Given the description of an element on the screen output the (x, y) to click on. 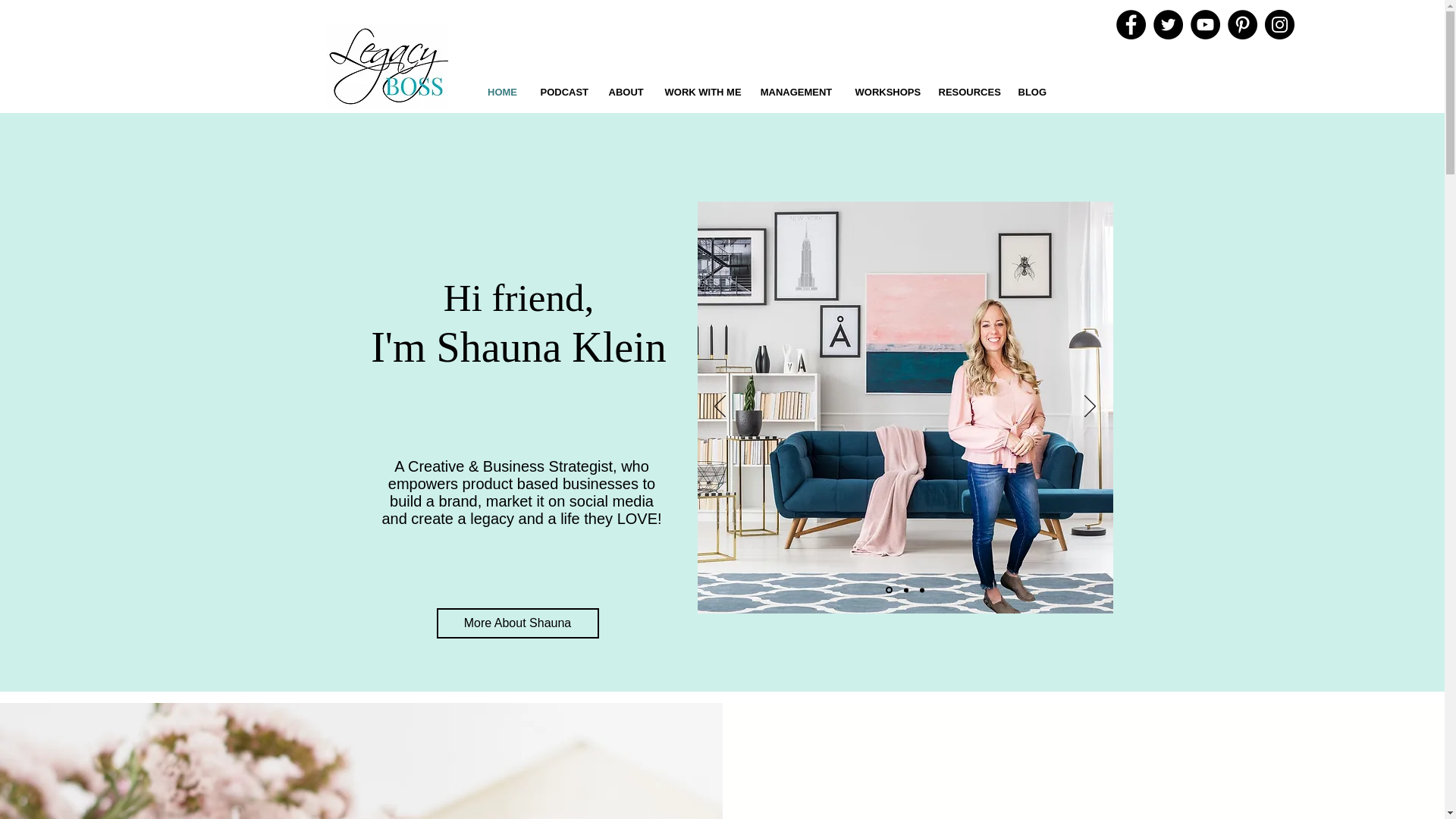
WORK WITH ME (701, 91)
WORKSHOPS (884, 91)
BLOG (1032, 91)
PODCAST (562, 91)
ABOUT (624, 91)
MANAGEMENT (796, 91)
RESOURCES (966, 91)
HOME (502, 91)
More About Shauna (517, 623)
